Given the description of an element on the screen output the (x, y) to click on. 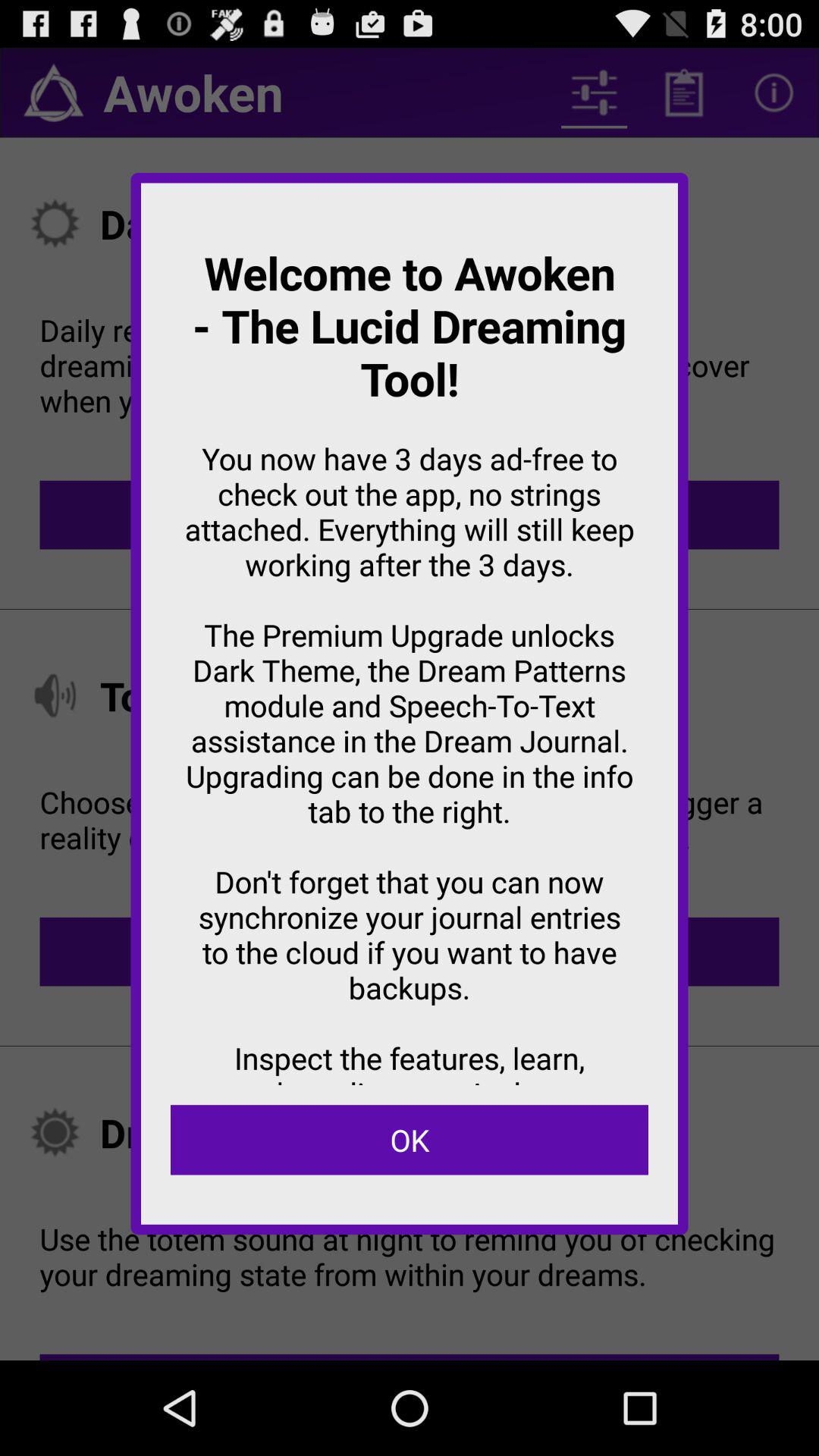
swipe to the ok (409, 1140)
